Given the description of an element on the screen output the (x, y) to click on. 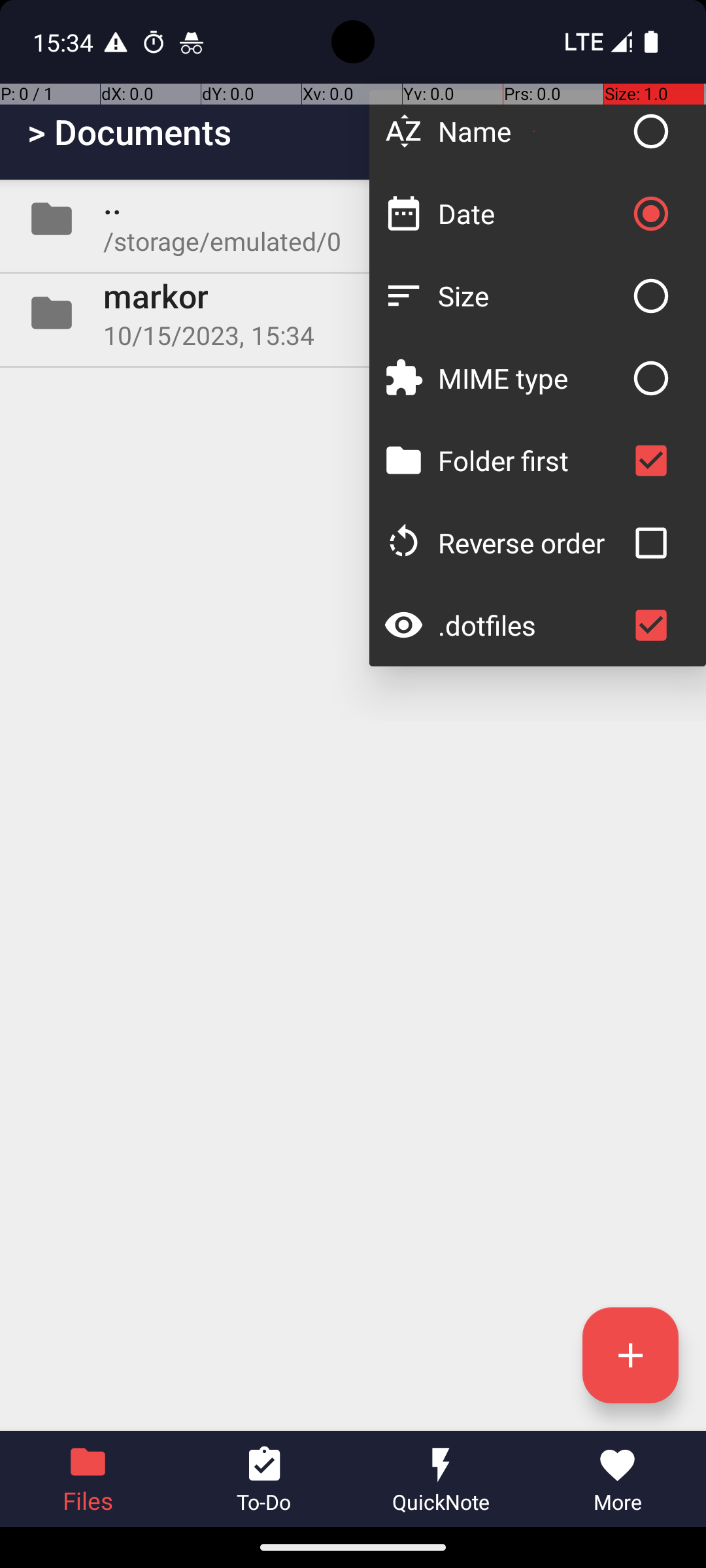
Size Element type: android.widget.TextView (530, 295)
MIME type Element type: android.widget.TextView (530, 377)
Folder first Element type: android.widget.TextView (530, 459)
Reverse order Element type: android.widget.TextView (530, 542)
.dotfiles Element type: android.widget.TextView (530, 624)
